Given the description of an element on the screen output the (x, y) to click on. 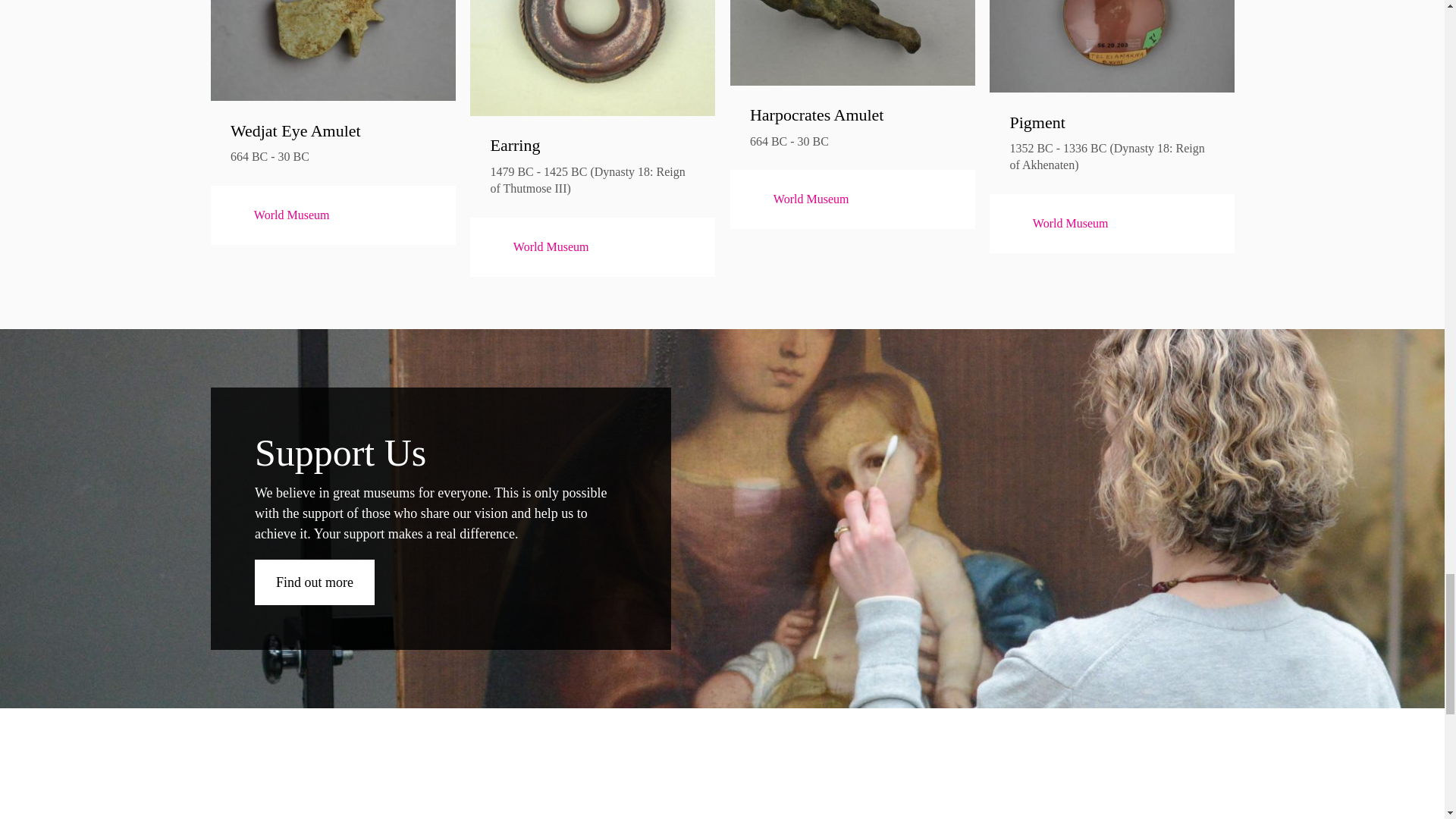
Earring (591, 144)
World Museum (538, 247)
World Museum (279, 215)
World Museum (798, 199)
Harpocrates Amulet (852, 114)
Wedjat Eye Amulet (332, 130)
